Given the description of an element on the screen output the (x, y) to click on. 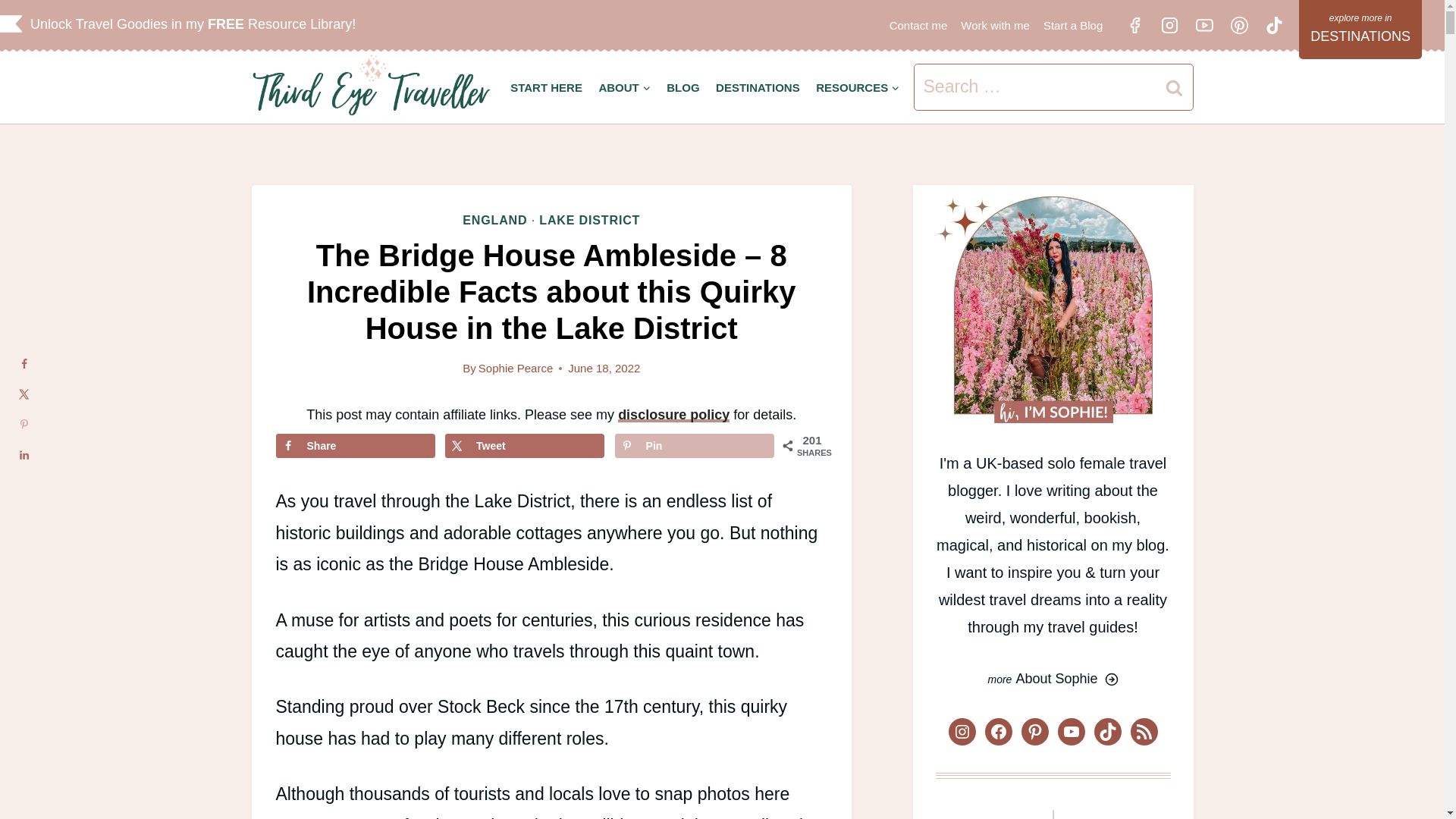
Save to Pinterest (694, 445)
DESTINATIONS (1360, 29)
START HERE (545, 87)
Pin (694, 445)
Sophie Pearce (516, 367)
ABOUT (625, 87)
RESOURCES (857, 87)
Share (355, 445)
DESTINATIONS (757, 87)
BLOG (682, 87)
Work with me (994, 25)
ENGLAND (495, 219)
Share on Facebook (355, 445)
Share on X (524, 445)
FREE Resource Library!   (285, 23)
